Given the description of an element on the screen output the (x, y) to click on. 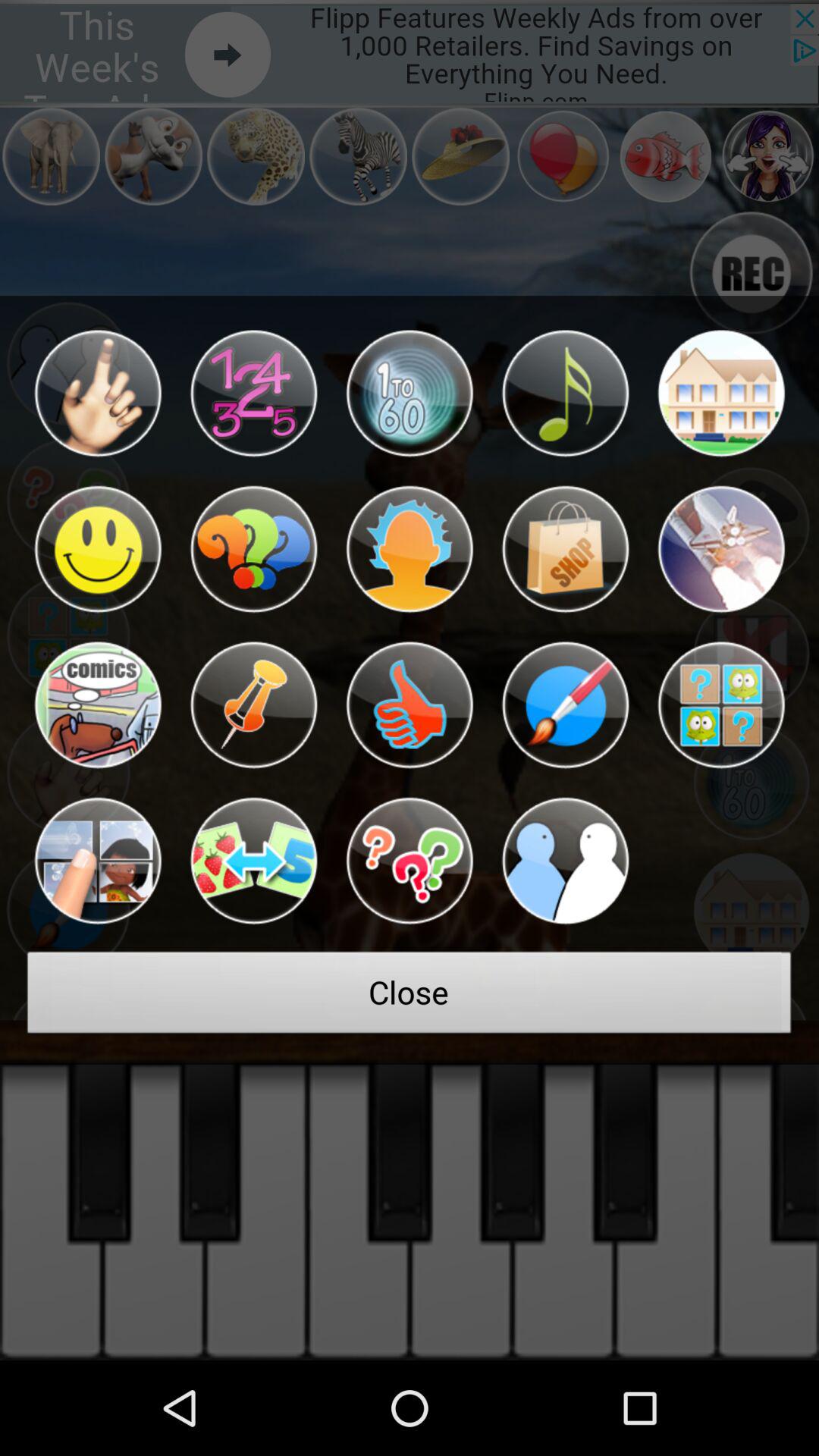
select the item above close item (253, 861)
